Given the description of an element on the screen output the (x, y) to click on. 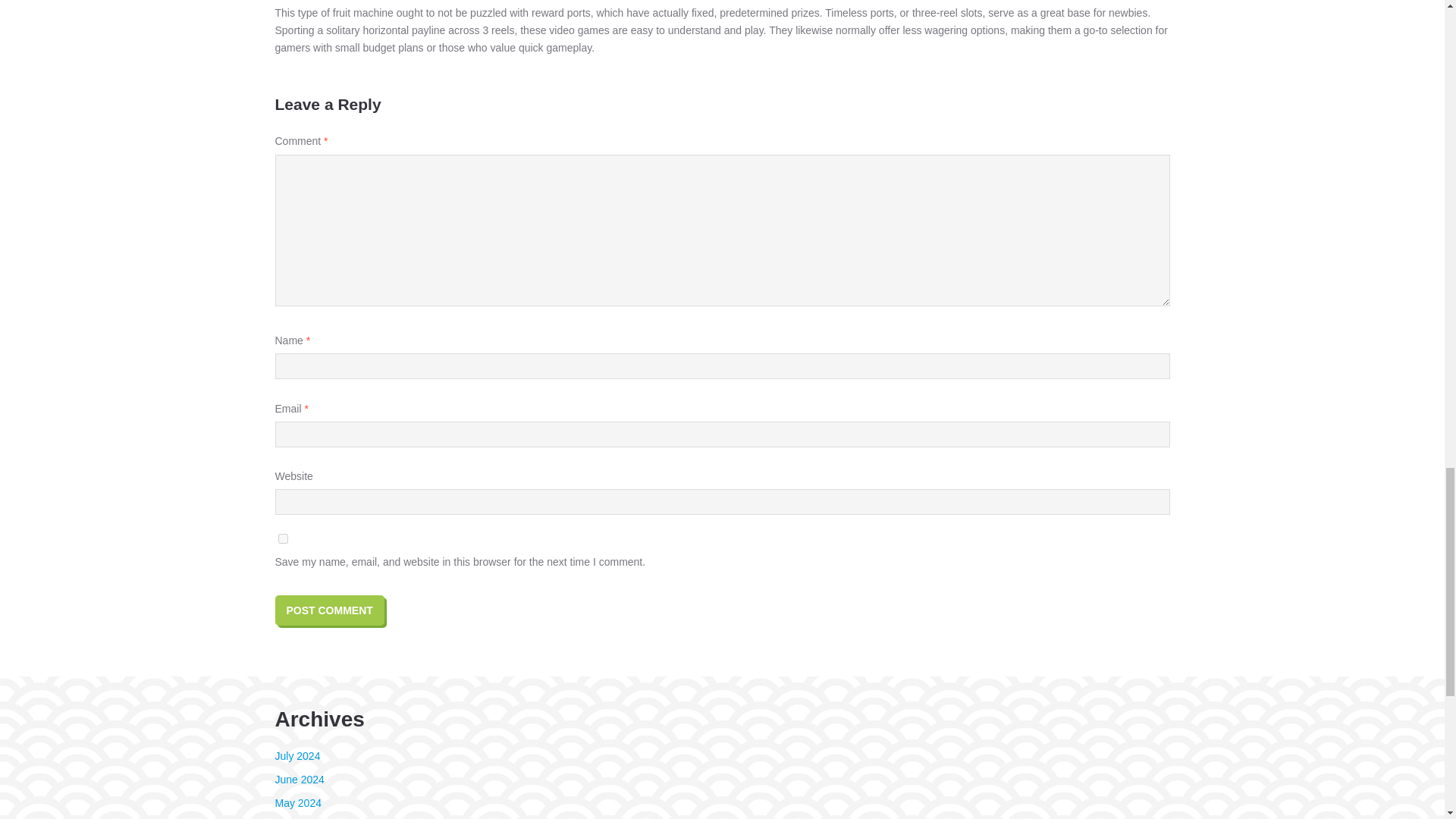
July 2024 (297, 756)
Post Comment (329, 610)
May 2024 (297, 802)
June 2024 (299, 779)
yes (282, 538)
Post Comment (329, 610)
